Given the description of an element on the screen output the (x, y) to click on. 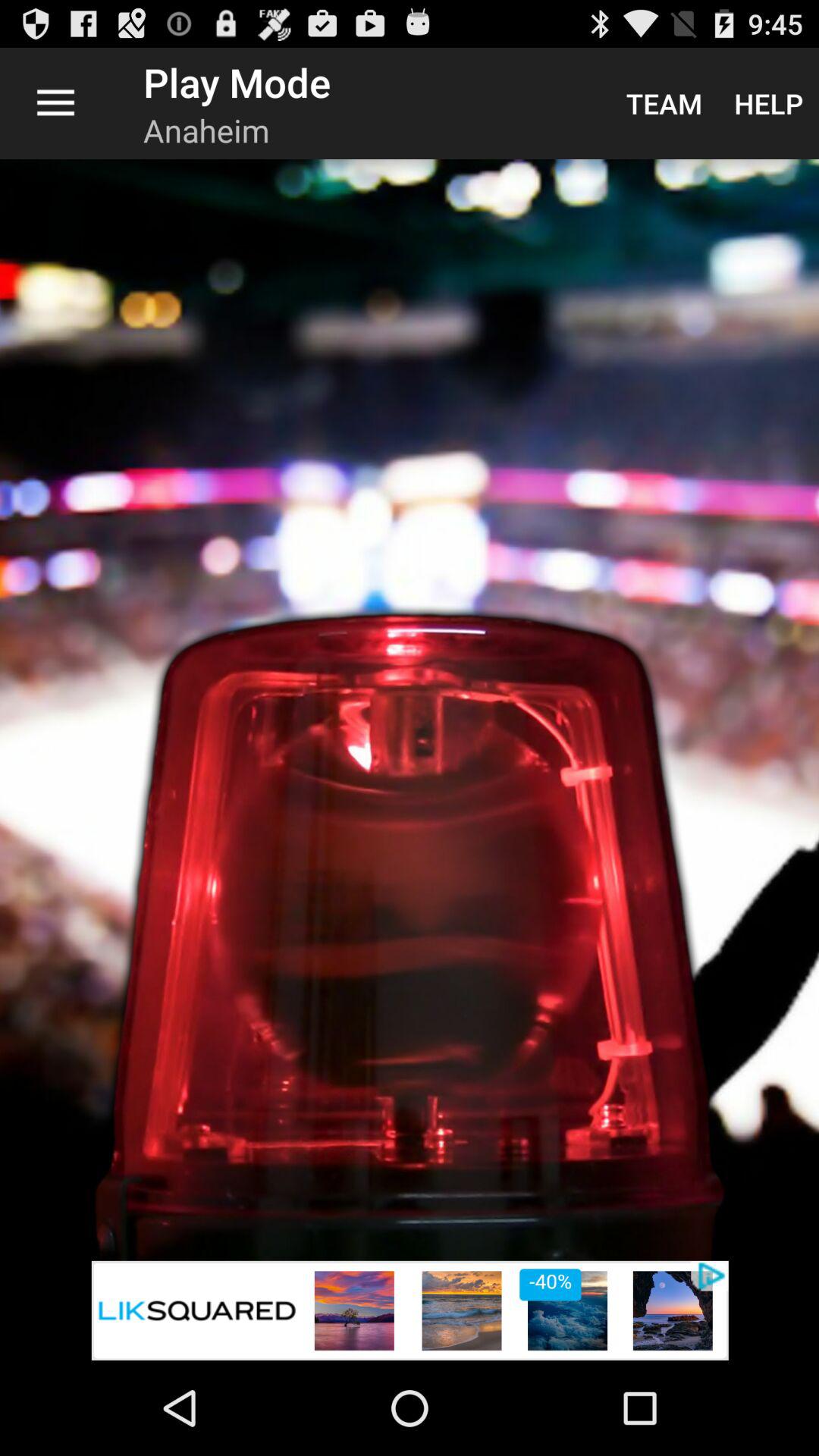
turn on item next to the team item (768, 103)
